Given the description of an element on the screen output the (x, y) to click on. 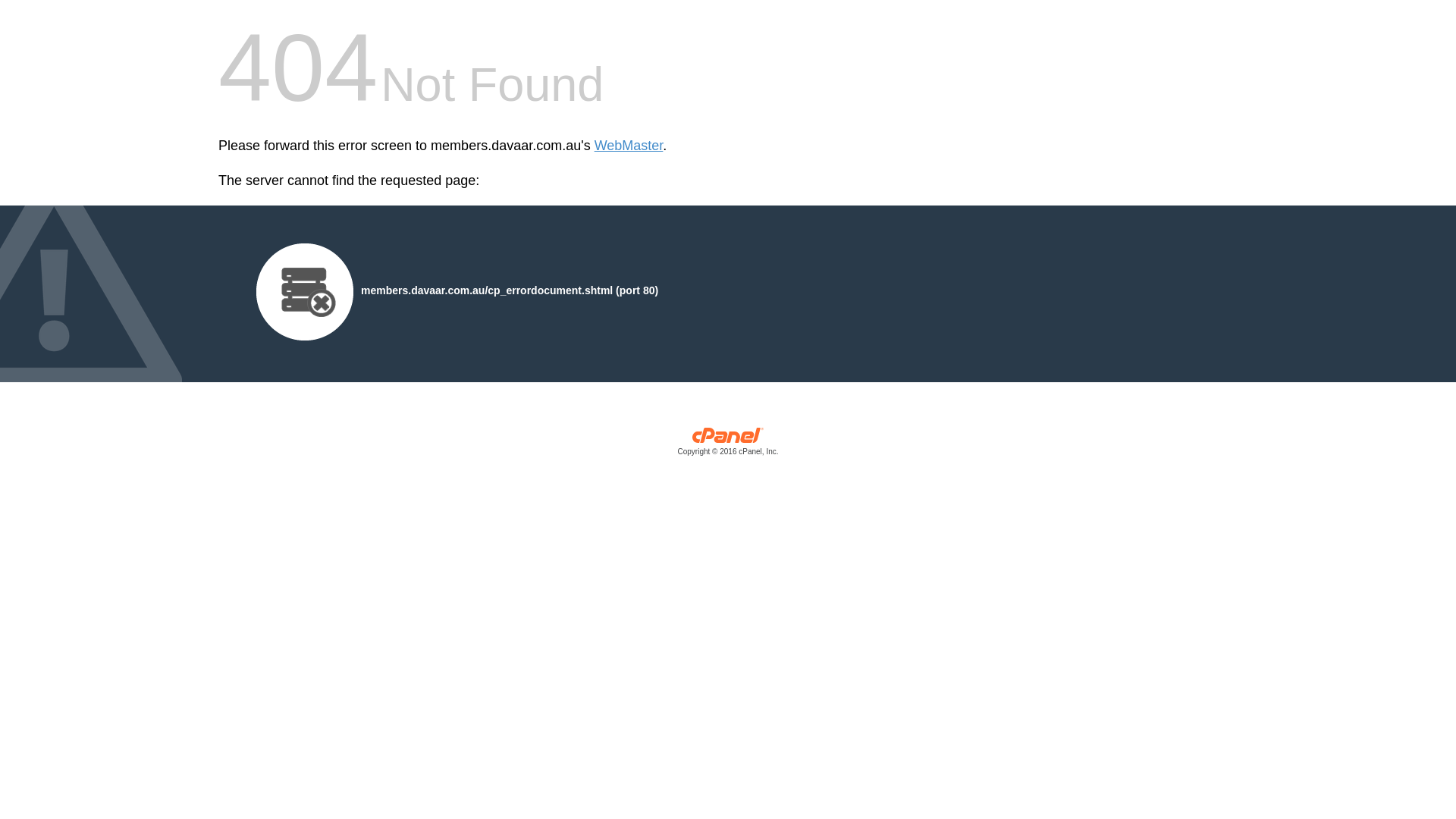
WebMaster Element type: text (628, 145)
